Given the description of an element on the screen output the (x, y) to click on. 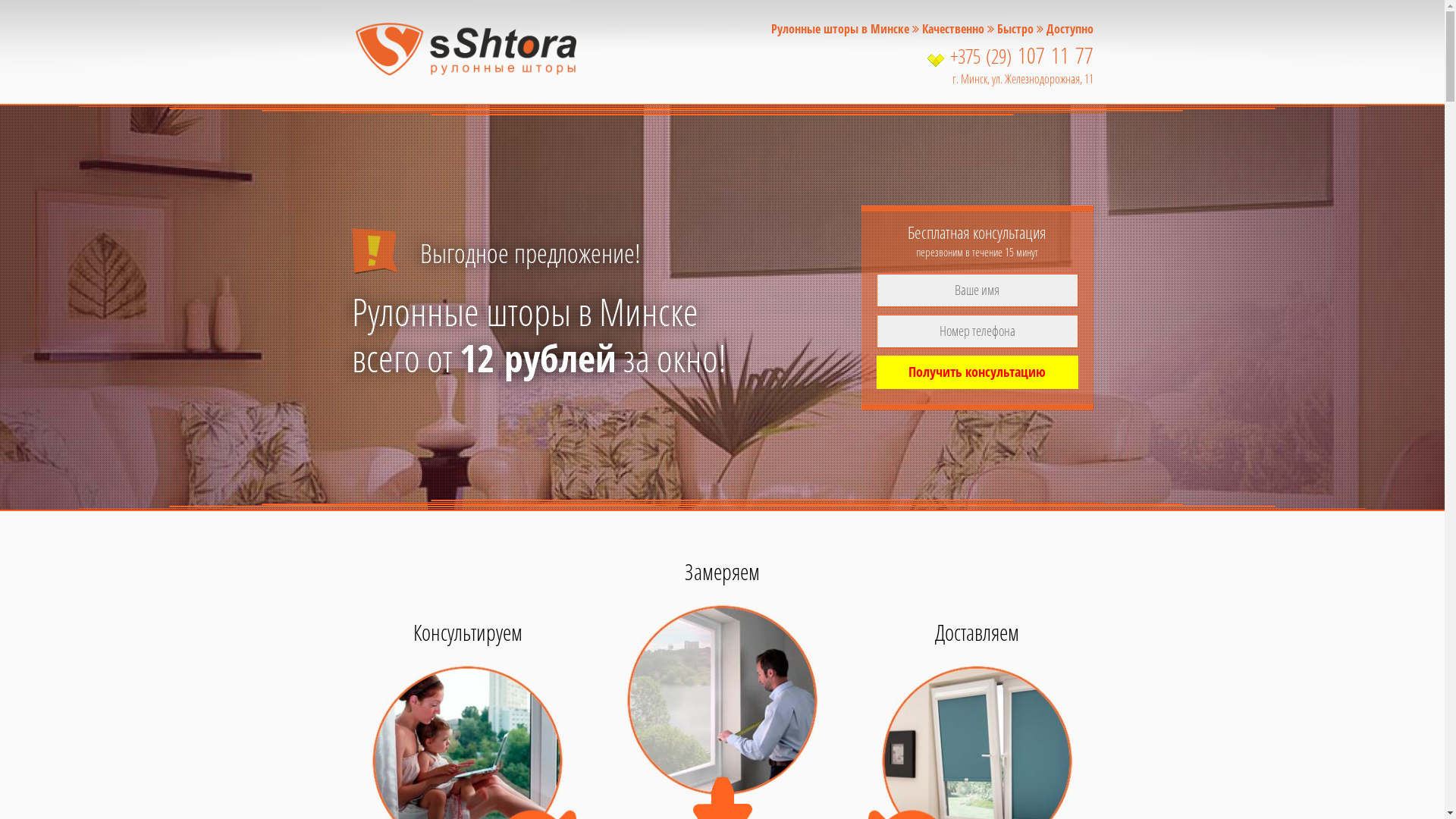
  +375 (29) 107 11 77 Element type: text (931, 56)
